Given the description of an element on the screen output the (x, y) to click on. 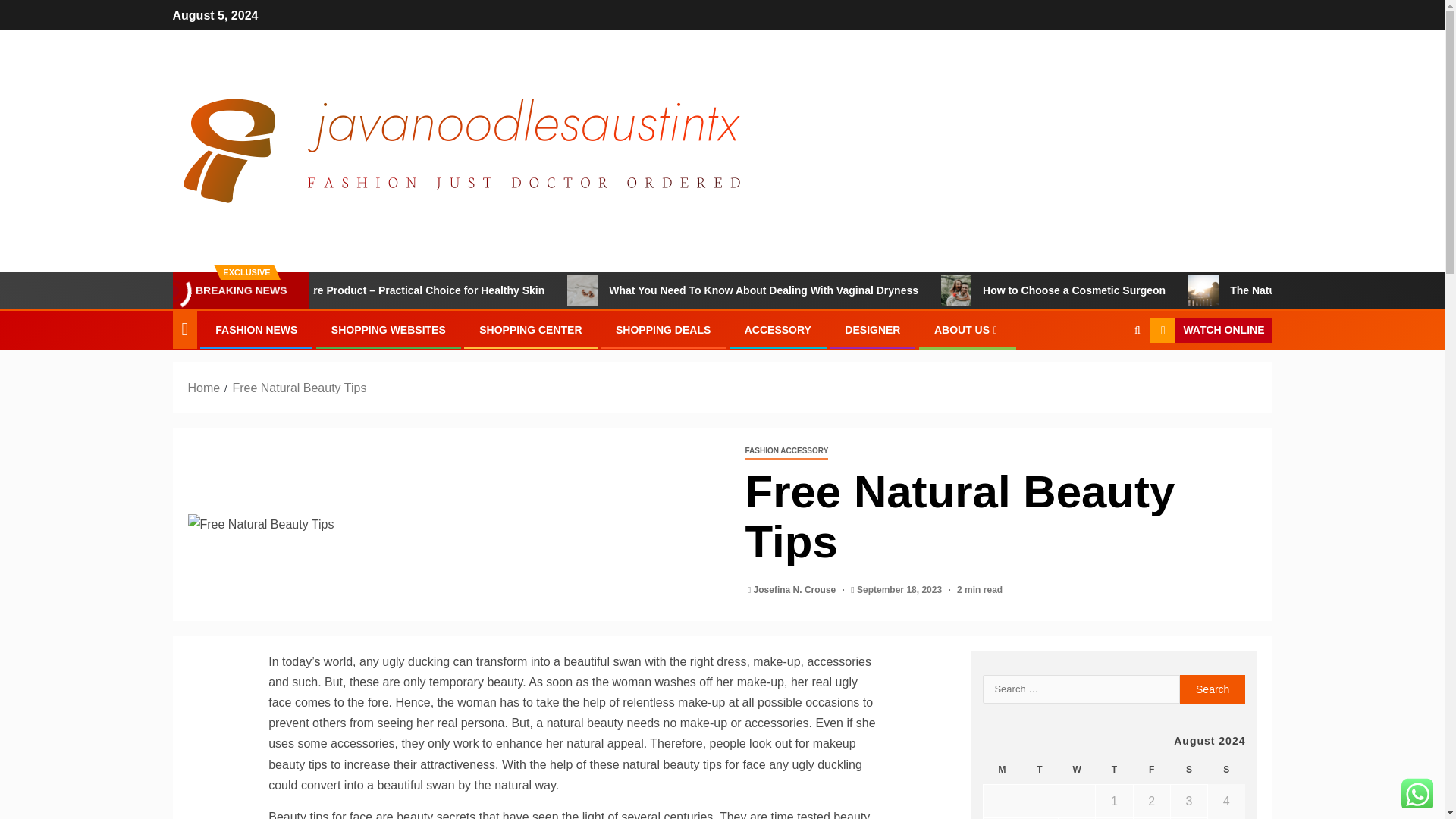
SHOPPING DEALS (662, 329)
Free Natural Beauty Tips (454, 524)
Free Natural Beauty Tips (298, 387)
ACCESSORY (777, 329)
SHOPPING CENTER (529, 329)
DESIGNER (871, 329)
WATCH ONLINE (1210, 330)
Home (204, 387)
FASHION ACCESSORY (786, 451)
The Natural Beauty Products for Looking Younger (1275, 290)
